Given the description of an element on the screen output the (x, y) to click on. 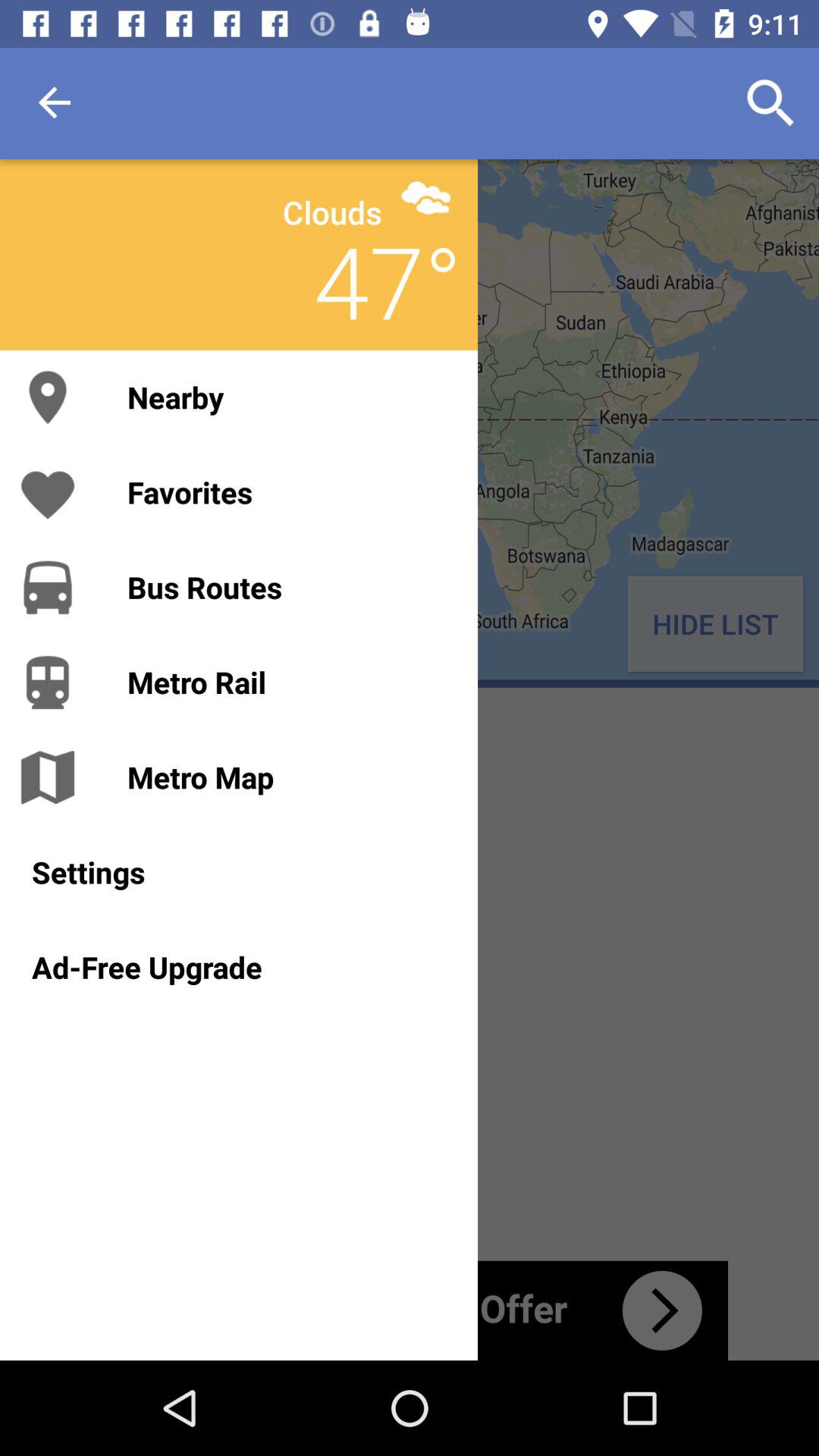
jump to settings icon (238, 871)
